Given the description of an element on the screen output the (x, y) to click on. 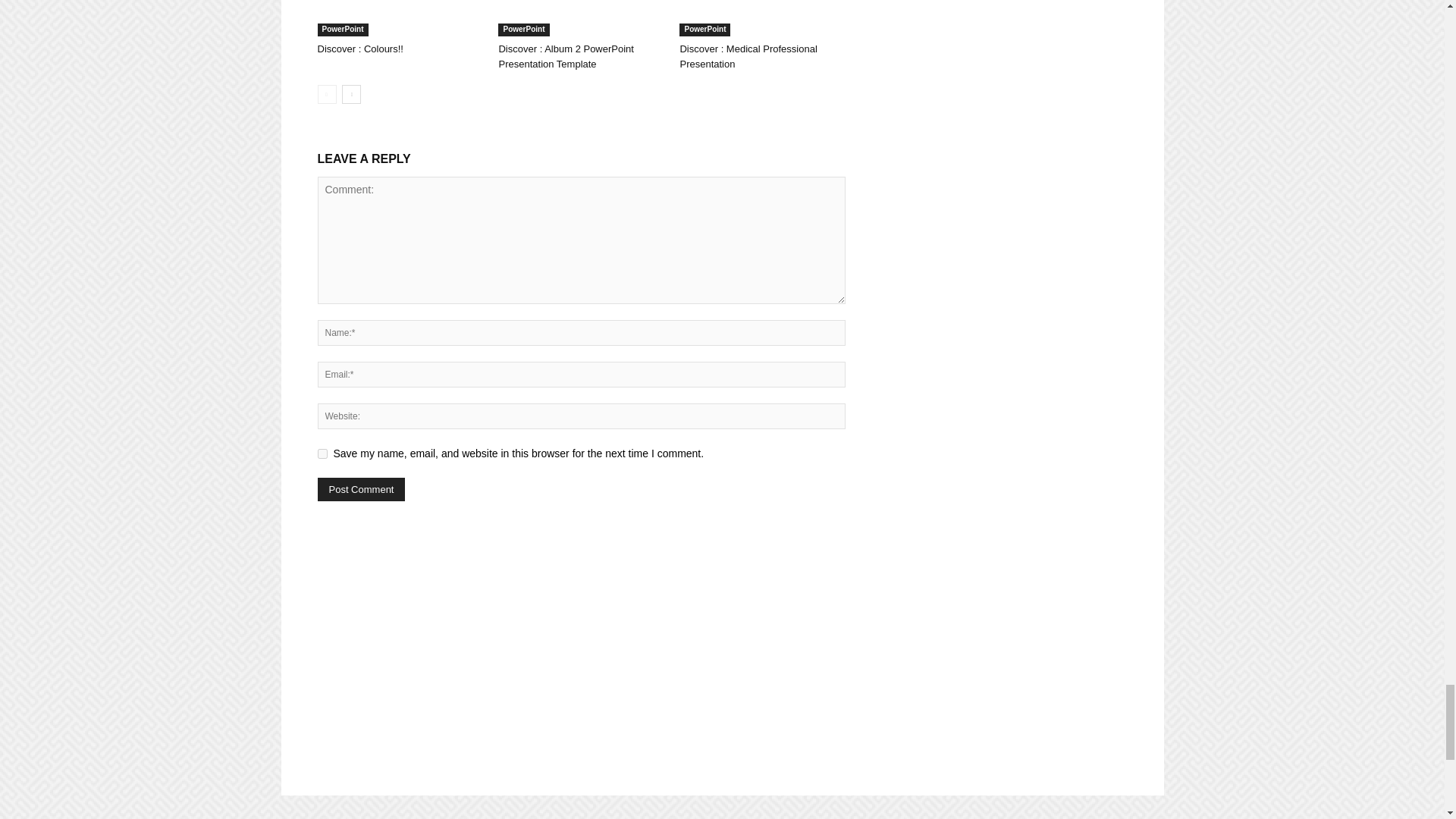
yes (321, 453)
Post Comment (360, 489)
